Given the description of an element on the screen output the (x, y) to click on. 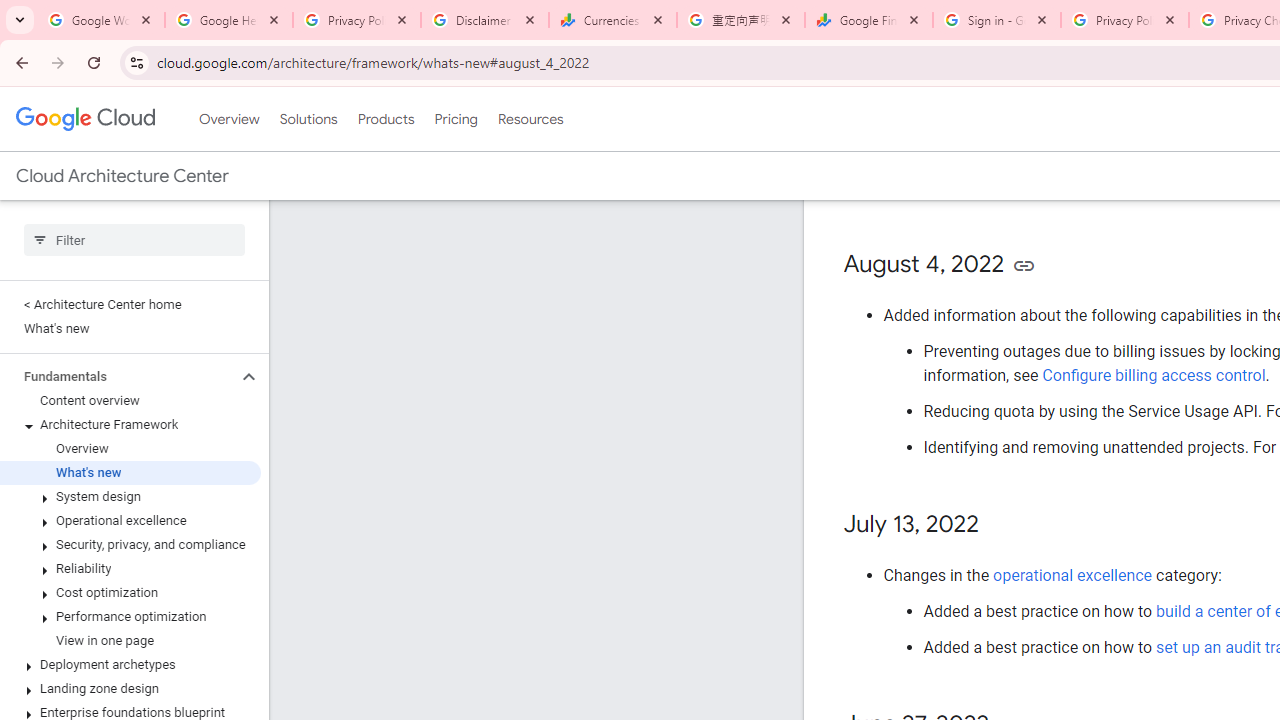
View in one page (130, 641)
Content overview (130, 400)
Reliability (130, 569)
Copy link to this section: July 13, 2022 (997, 524)
Sign in - Google Accounts (997, 20)
Cost optimization (130, 592)
Configure billing access control (1153, 375)
Copy link to this section: August 4, 2022 (1023, 264)
< Architecture Center home (130, 304)
Fundamentals (118, 376)
